Given the description of an element on the screen output the (x, y) to click on. 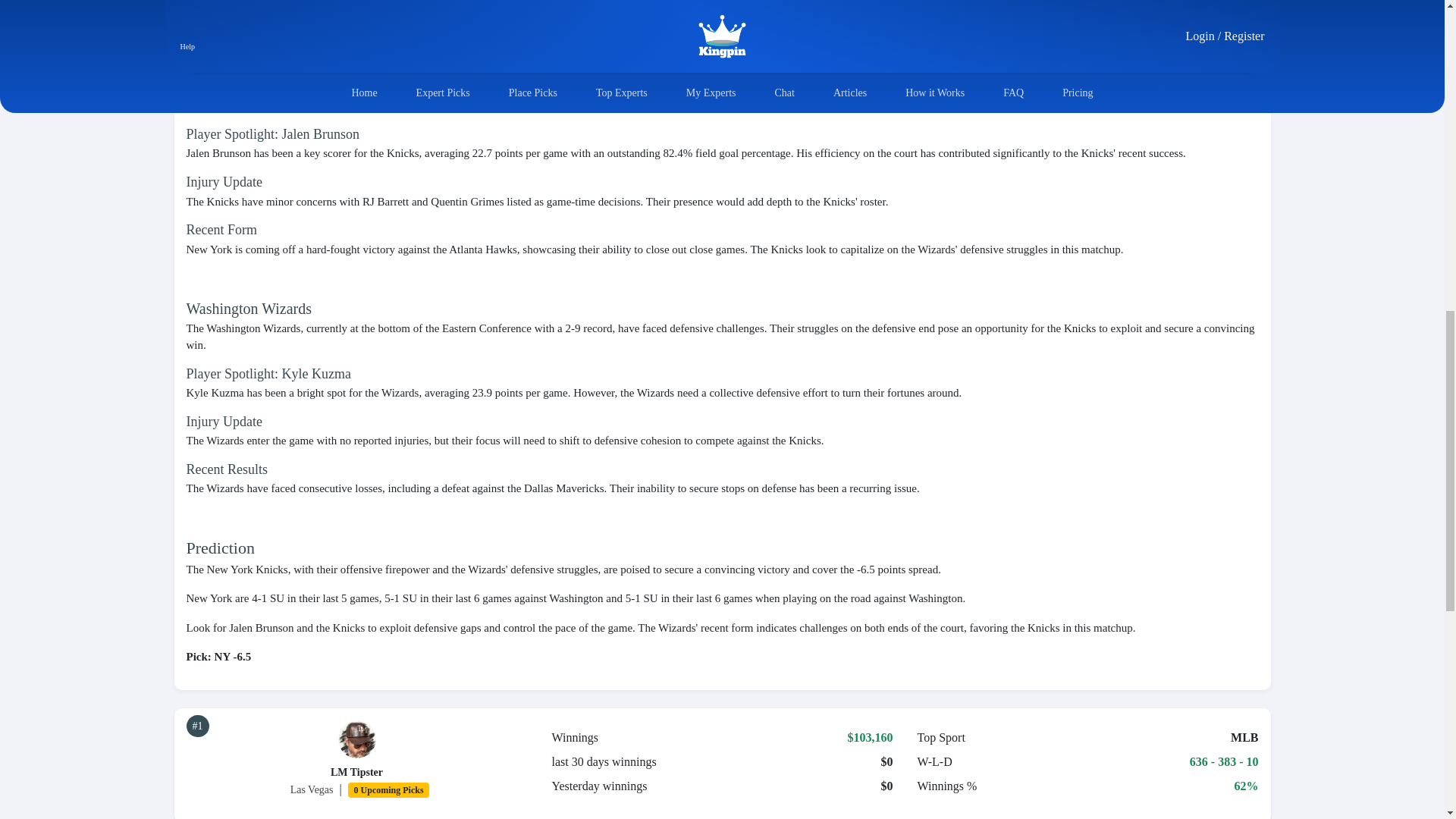
LM Tipster (356, 772)
0 Upcoming Picks (388, 788)
